Given the description of an element on the screen output the (x, y) to click on. 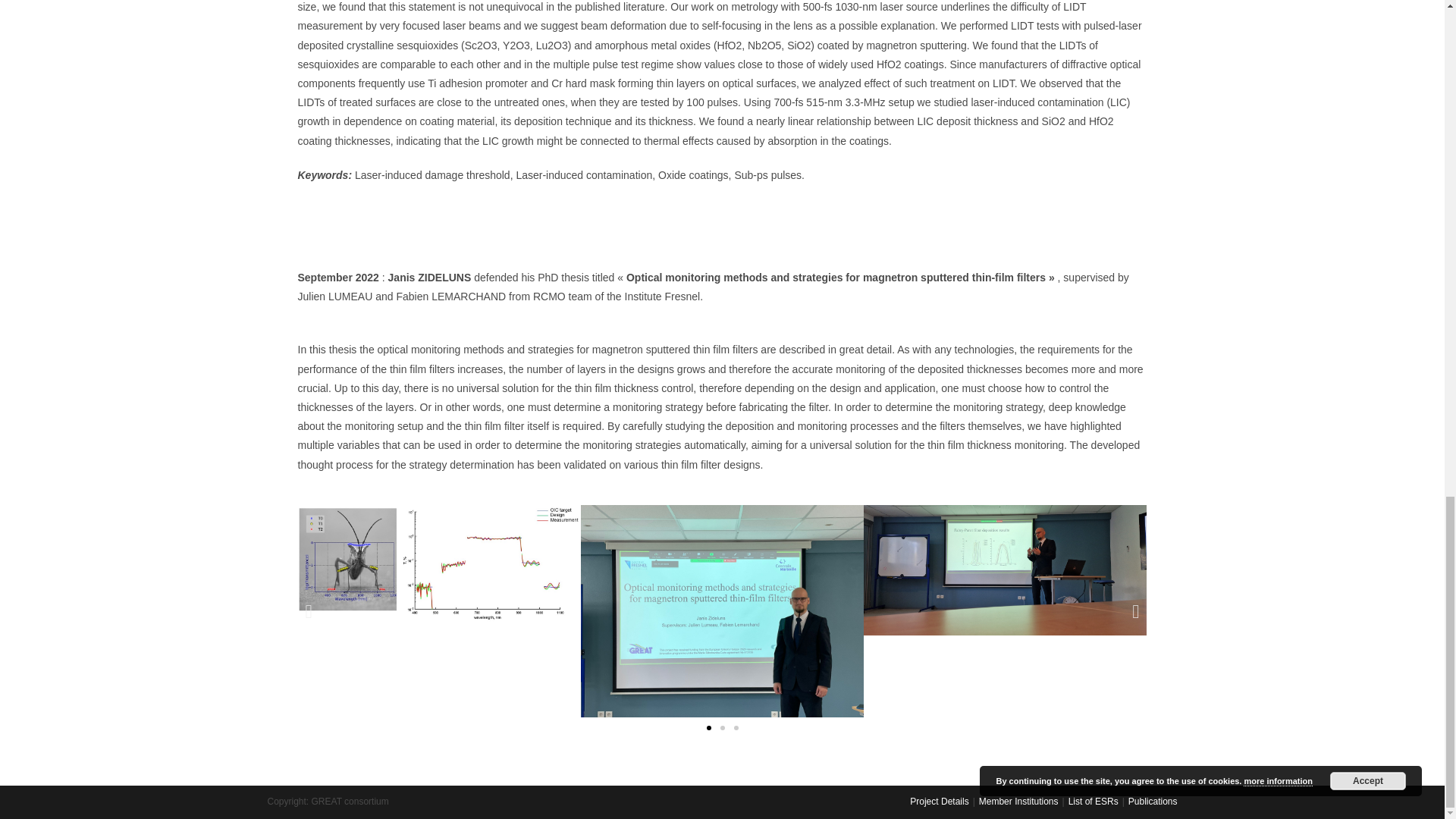
Publications (1152, 801)
List of ESRs (1093, 801)
Member Institutions (1018, 801)
Project Details (939, 801)
